Given the description of an element on the screen output the (x, y) to click on. 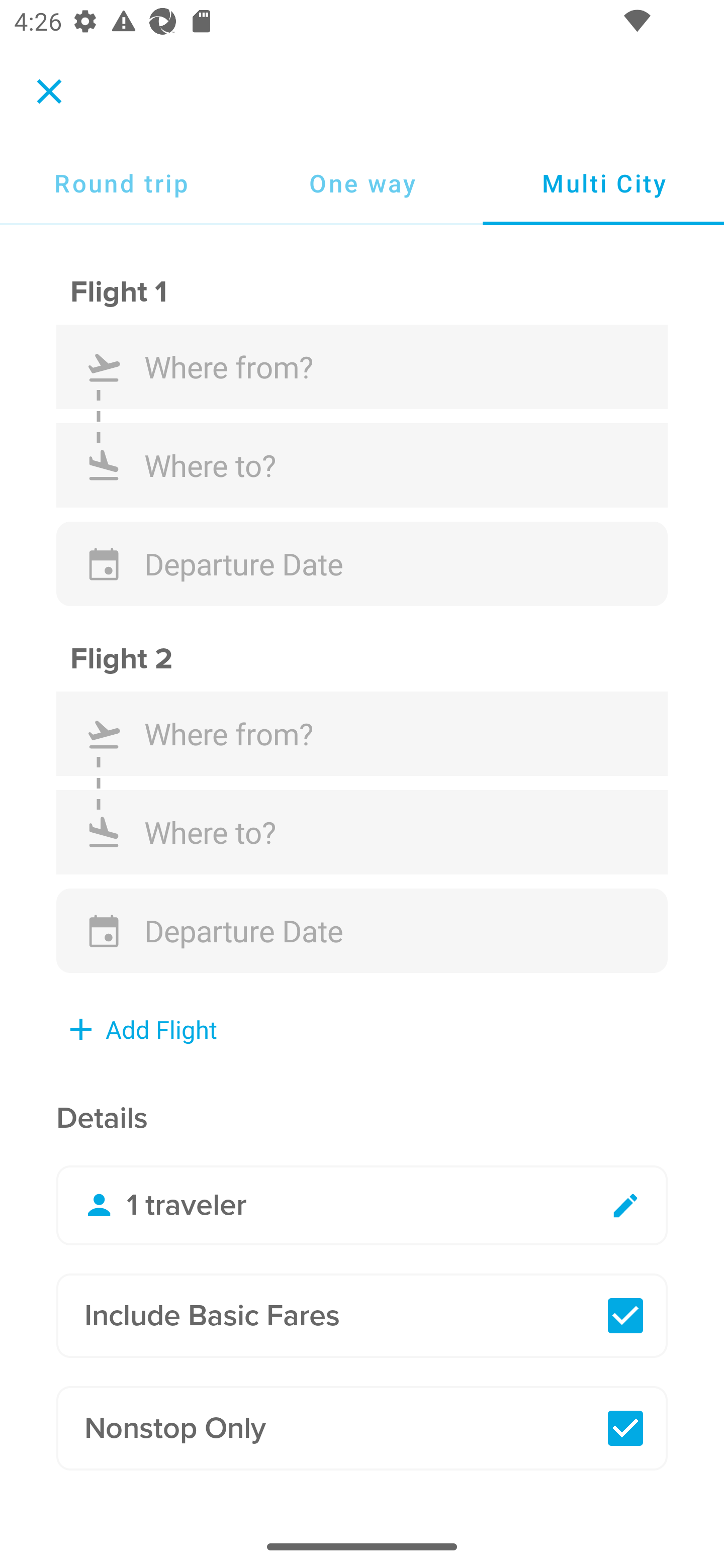
Cancel (49, 90)
Round trip (120, 183)
One way (361, 183)
Where from? (361, 366)
Where to? (361, 465)
Departure Date (361, 564)
Where from? (361, 733)
Where to? (361, 832)
Departure Date (361, 931)
Add Flight (143, 1028)
1 traveler Edit Travelers (361, 1205)
Include Basic Fares (361, 1315)
Nonstop Only (361, 1428)
